Given the description of an element on the screen output the (x, y) to click on. 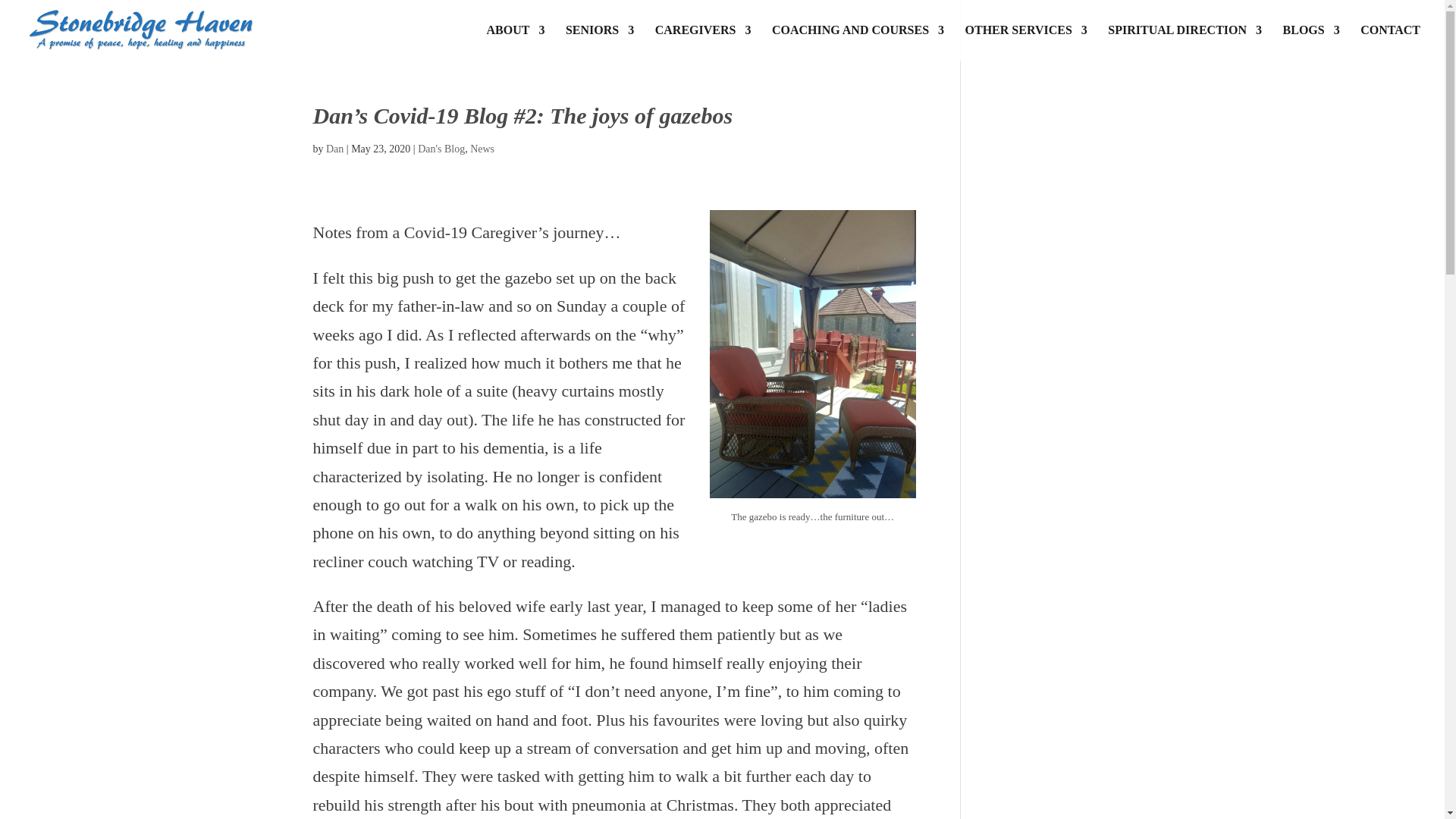
SENIORS (599, 42)
SPIRITUAL DIRECTION (1185, 42)
CAREGIVERS (703, 42)
CONTACT (1390, 42)
Posts by Dan (334, 148)
OTHER SERVICES (1026, 42)
ABOUT (515, 42)
COACHING AND COURSES (857, 42)
BLOGS (1310, 42)
